Given the description of an element on the screen output the (x, y) to click on. 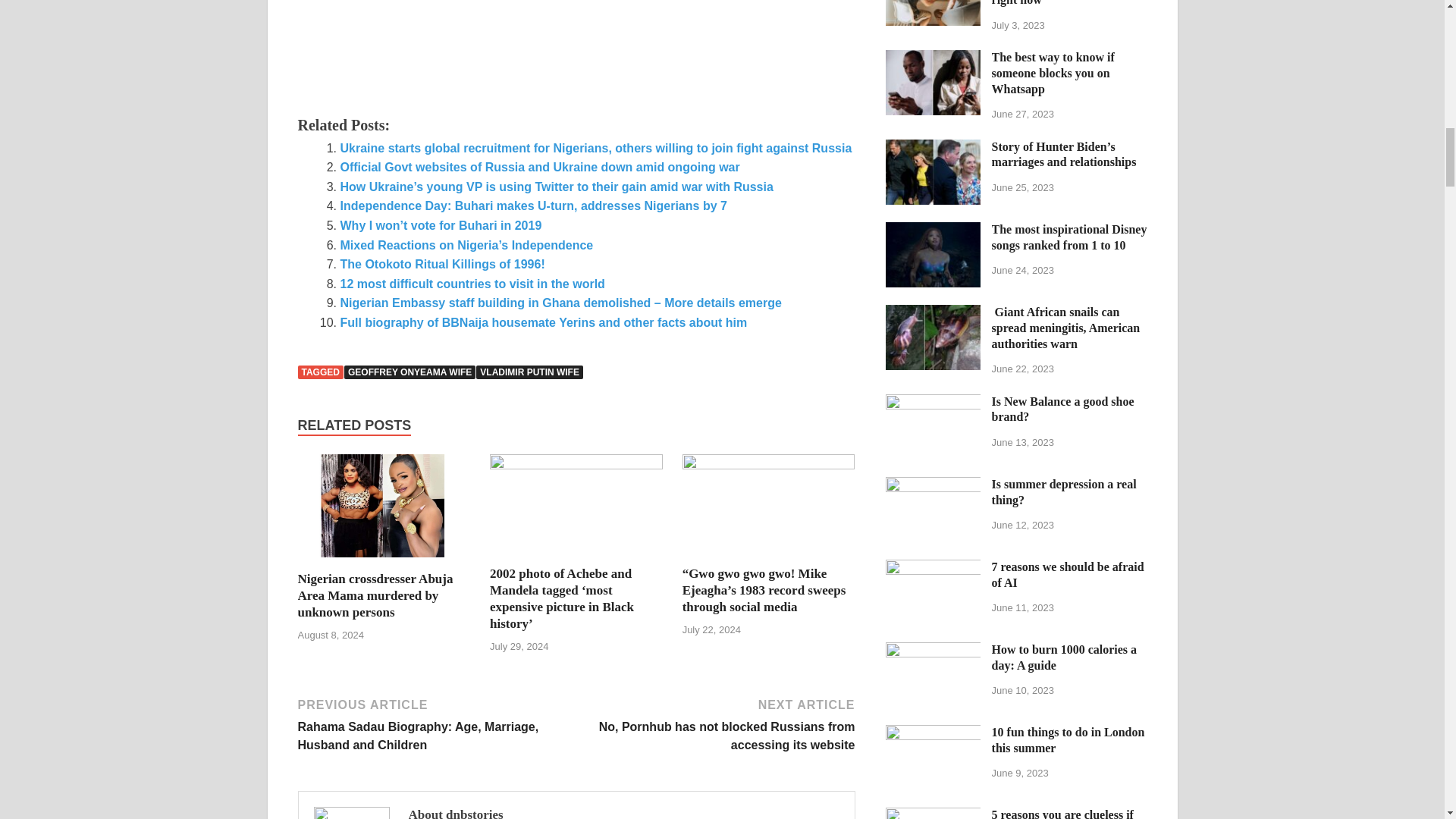
12 most difficult countries to visit in the world (471, 283)
The Otokoto Ritual Killings of 1996! (441, 264)
